Given the description of an element on the screen output the (x, y) to click on. 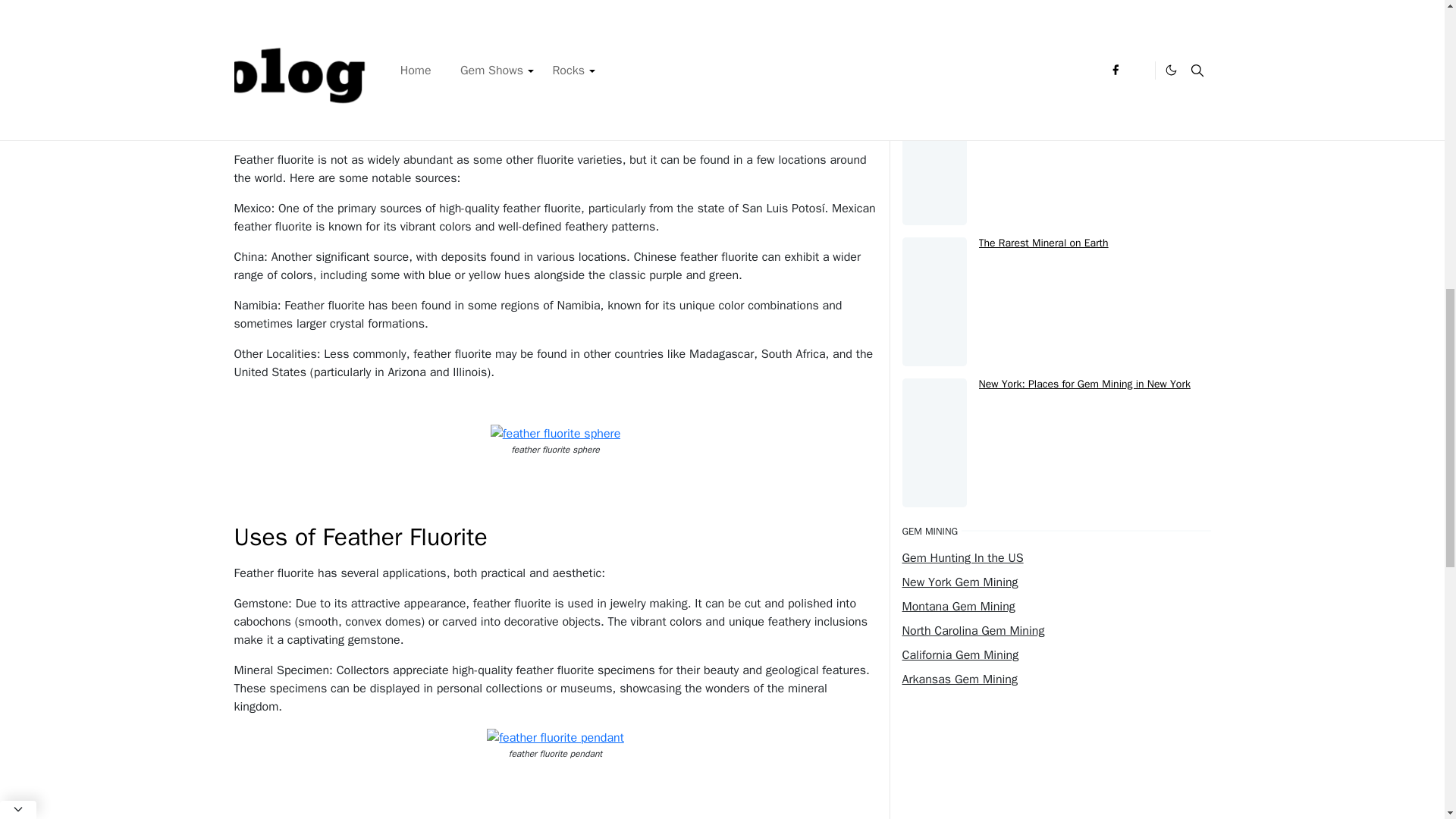
Rainbow Feather fluorite (555, 36)
